Given the description of an element on the screen output the (x, y) to click on. 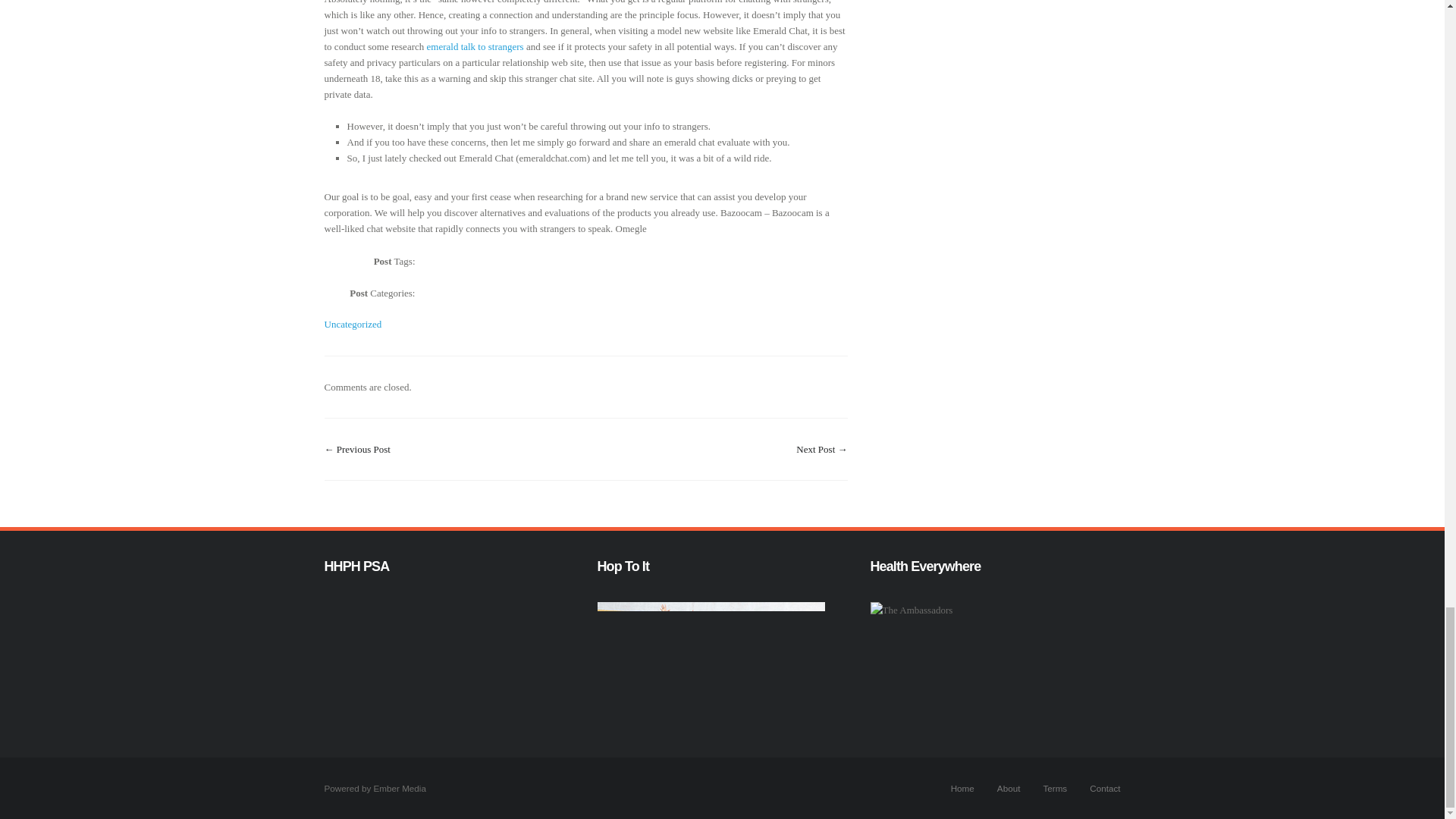
emerald talk to strangers (475, 46)
Uncategorized (352, 324)
